Given the description of an element on the screen output the (x, y) to click on. 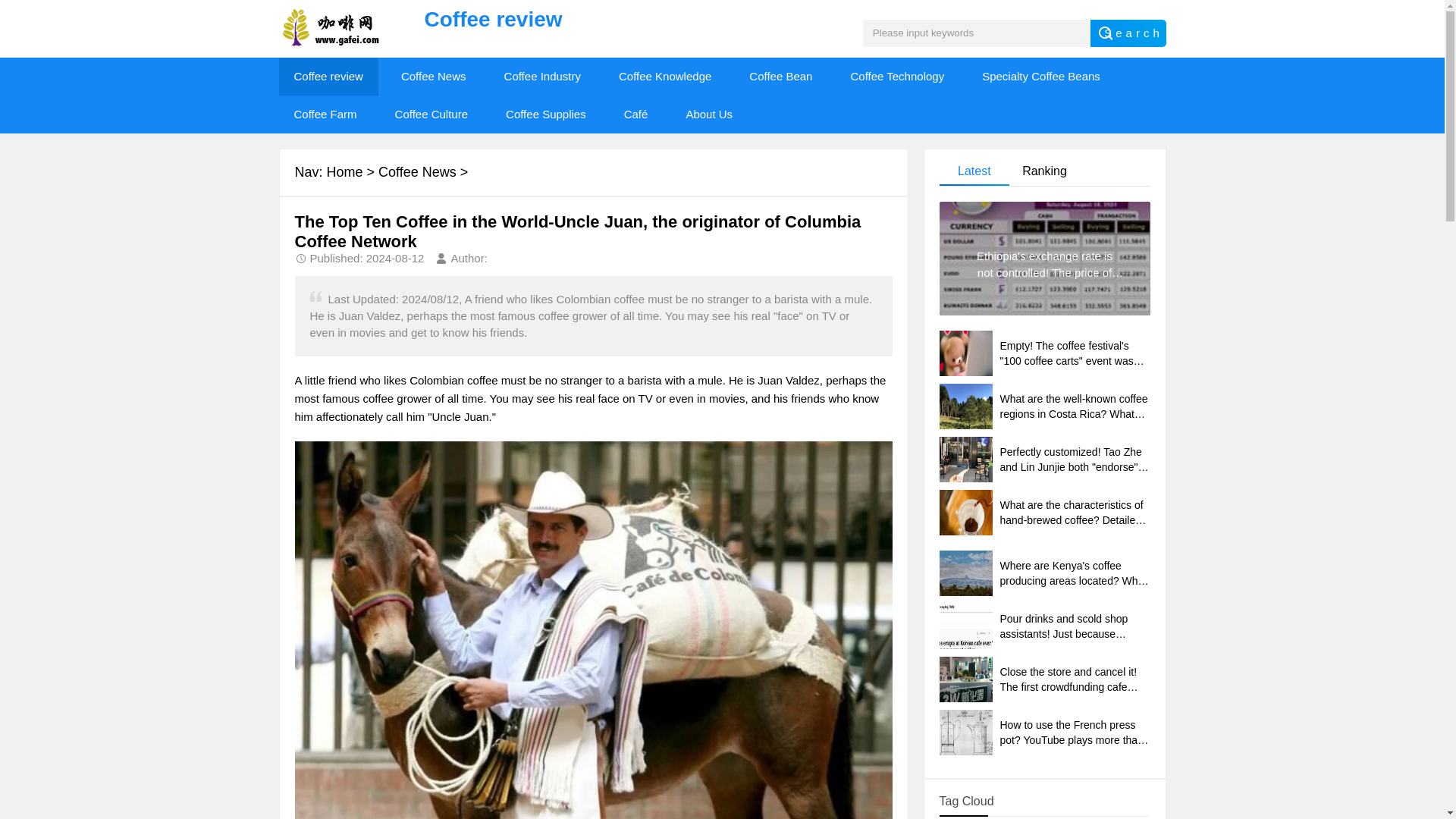
Coffee Industry (542, 76)
Coffee review (571, 19)
Coffee Supplies (545, 114)
Coffee News (417, 171)
Coffee review (328, 76)
Coffee Knowledge (665, 76)
Please input keywords (976, 32)
